Given the description of an element on the screen output the (x, y) to click on. 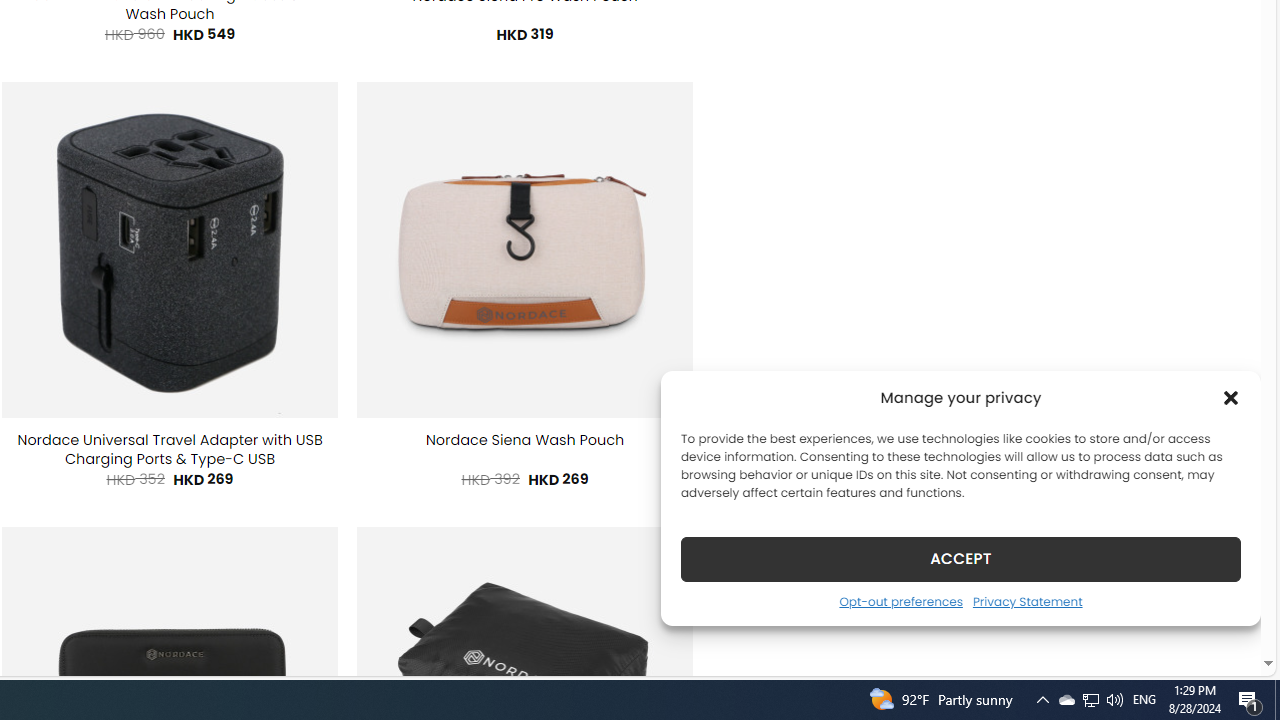
ACCEPT (960, 558)
Opt-out preferences (900, 601)
Privacy Statement (1026, 601)
Nordace Siena Wash Pouch (524, 440)
Class: cmplz-close (1231, 397)
